Given the description of an element on the screen output the (x, y) to click on. 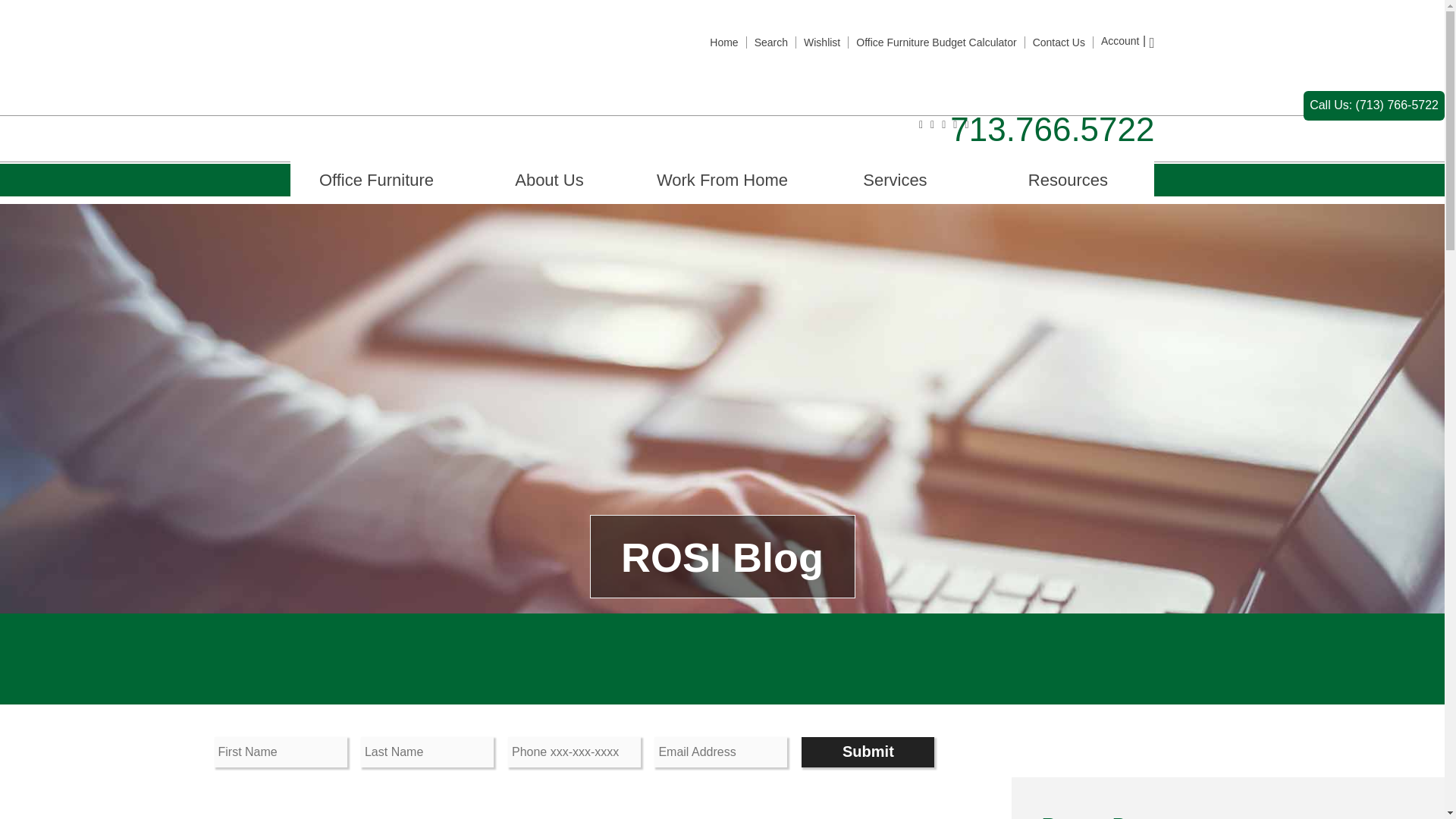
Contact Us (1058, 42)
Account (1120, 40)
Office Furniture Budget Calculator (936, 42)
713.766.5722 (1052, 129)
Submit (868, 752)
Home (724, 42)
Office Furniture (376, 180)
Search (770, 42)
Wishlist (821, 42)
